Given the description of an element on the screen output the (x, y) to click on. 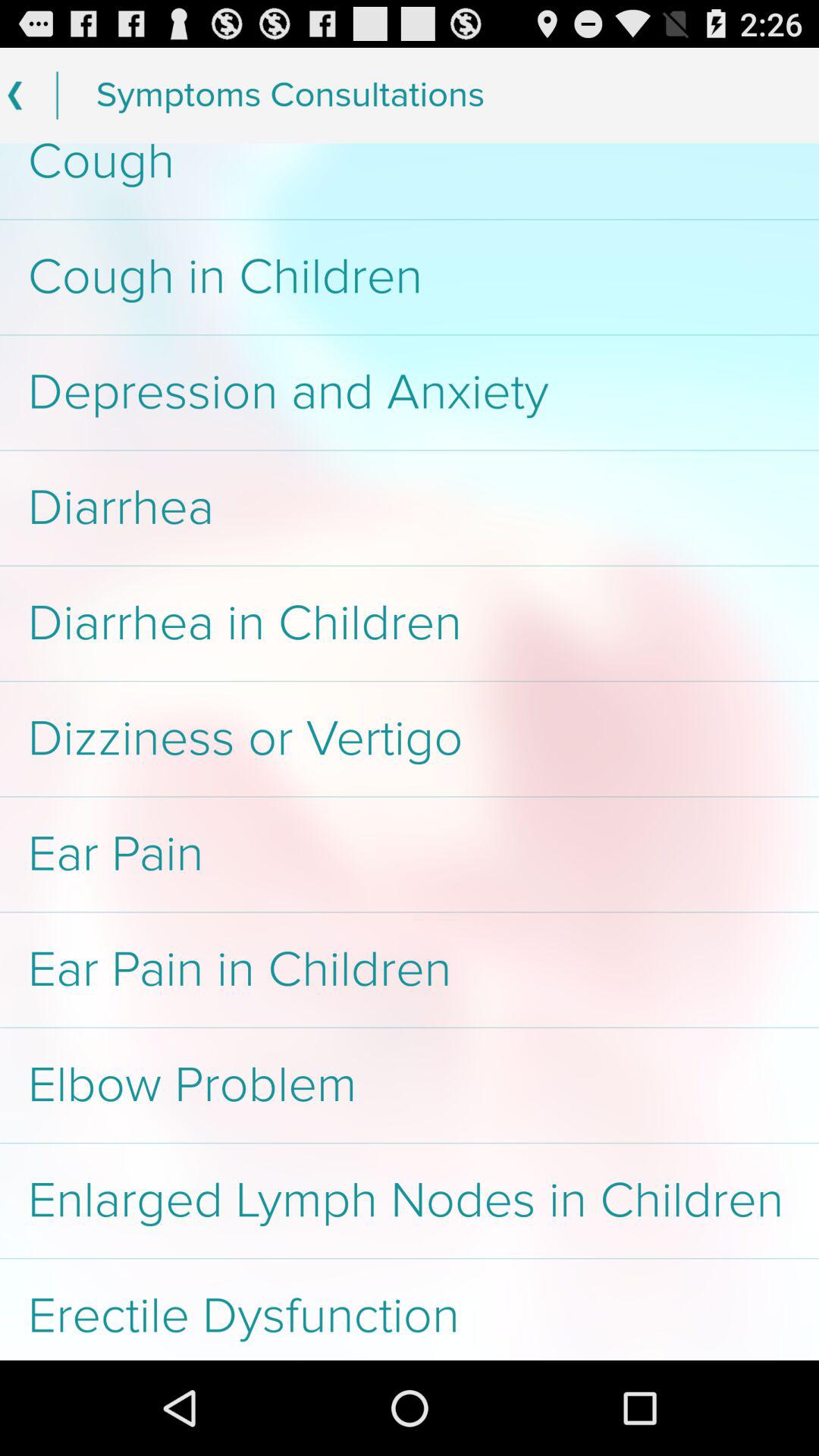
click the app above the diarrhea icon (409, 392)
